Given the description of an element on the screen output the (x, y) to click on. 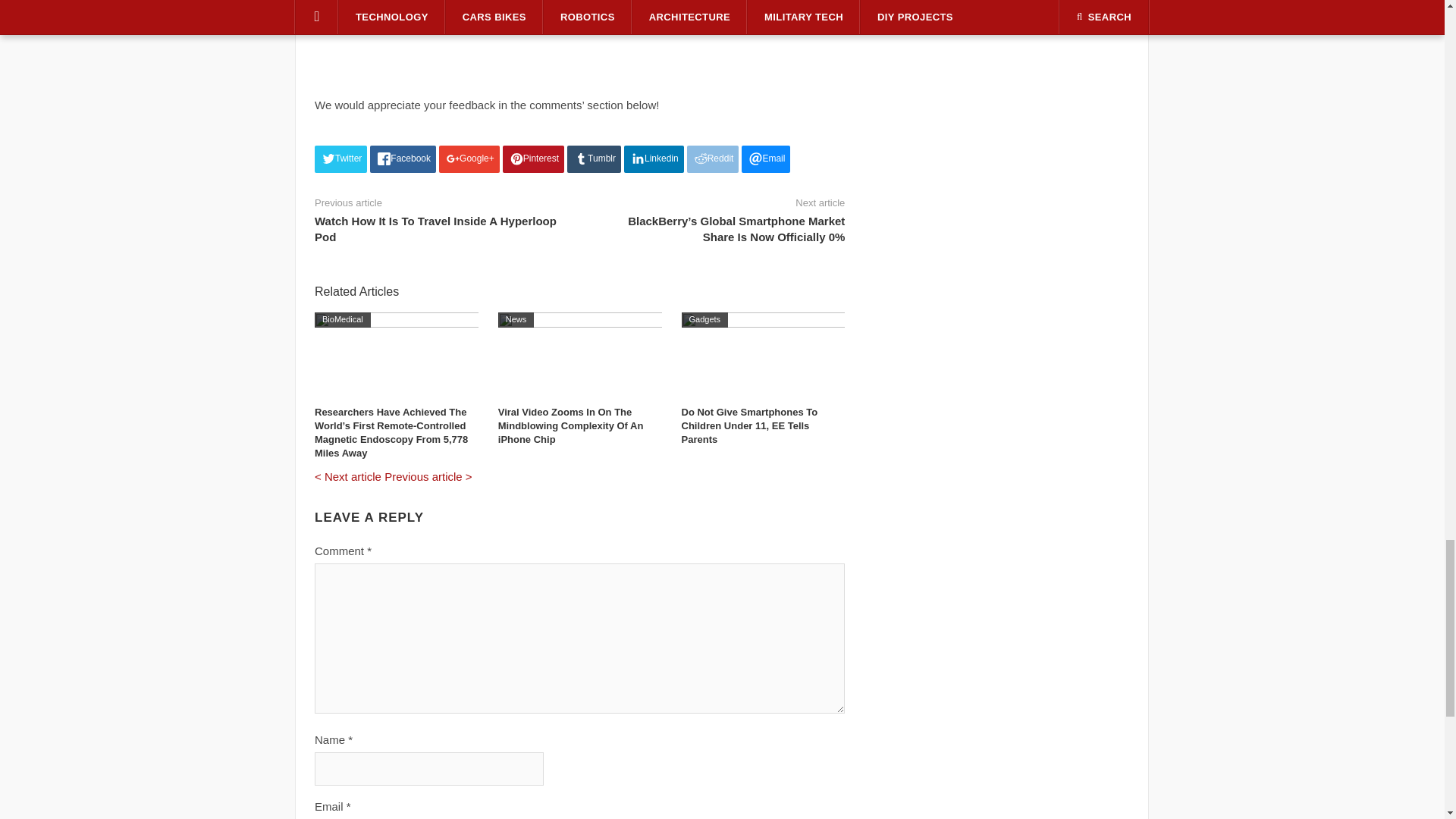
Email (765, 158)
Twitter (340, 158)
Pinterest (533, 158)
Watch How It Is To Travel Inside A Hyperloop Pod (435, 228)
Facebook (402, 158)
Tumblr (594, 158)
Reddit (713, 158)
Linkedin (654, 158)
